Given the description of an element on the screen output the (x, y) to click on. 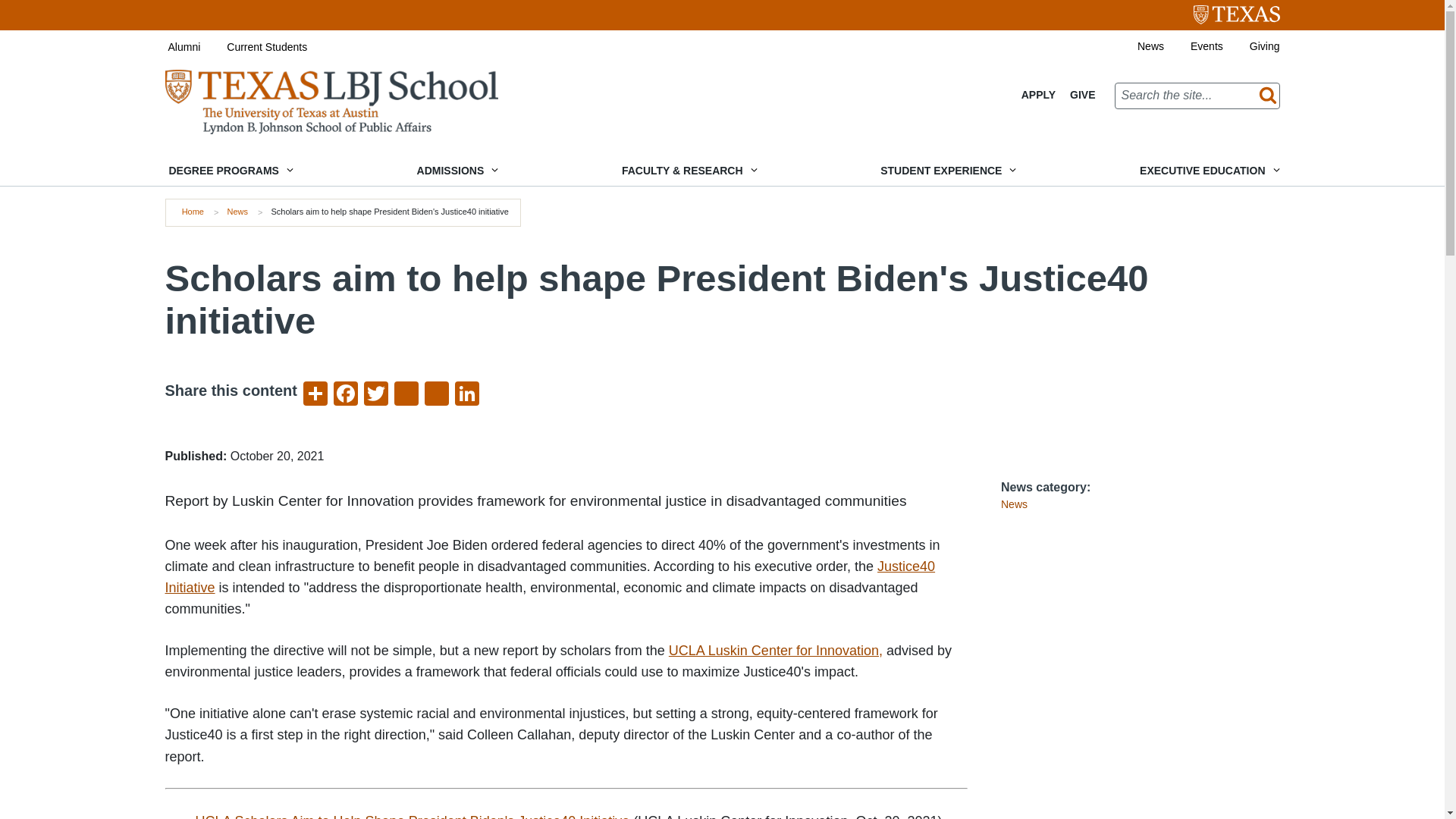
APPLY (1038, 94)
Giving (1251, 46)
ADMISSIONS (456, 171)
Search (1264, 95)
Home (192, 211)
DEGREE PROGRAMS (229, 171)
EXECUTIVE EDUCATION (1207, 171)
Events (1193, 46)
News (237, 211)
STUDENT EXPERIENCE (946, 171)
Home (331, 101)
GIVE (1082, 94)
News (1136, 46)
Search (1264, 95)
